Given the description of an element on the screen output the (x, y) to click on. 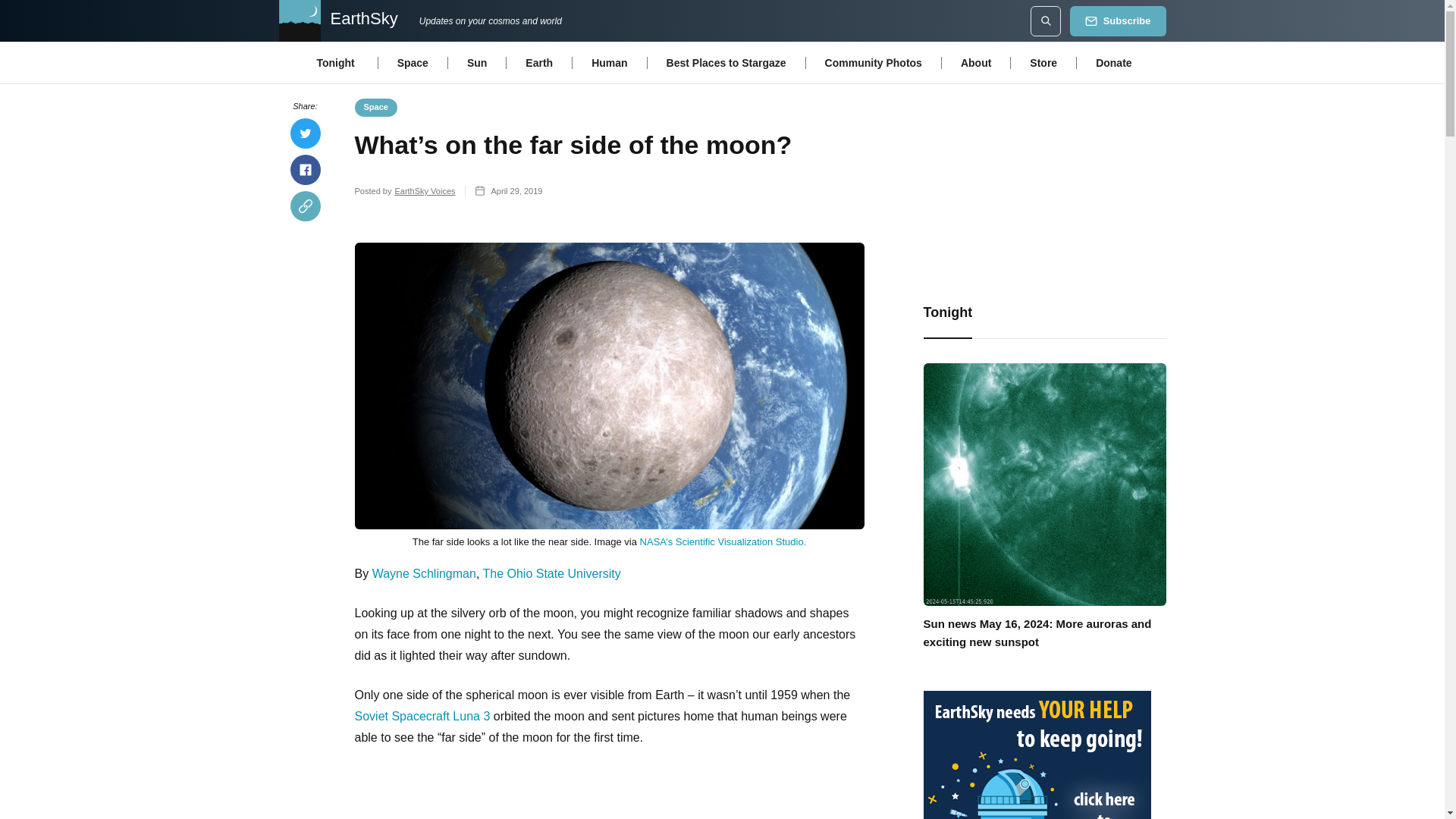
EarthSky (337, 20)
Best Places to Stargaze (725, 61)
Subscribe (1118, 20)
Earth (538, 61)
Sun (476, 61)
Space (413, 61)
